Given the description of an element on the screen output the (x, y) to click on. 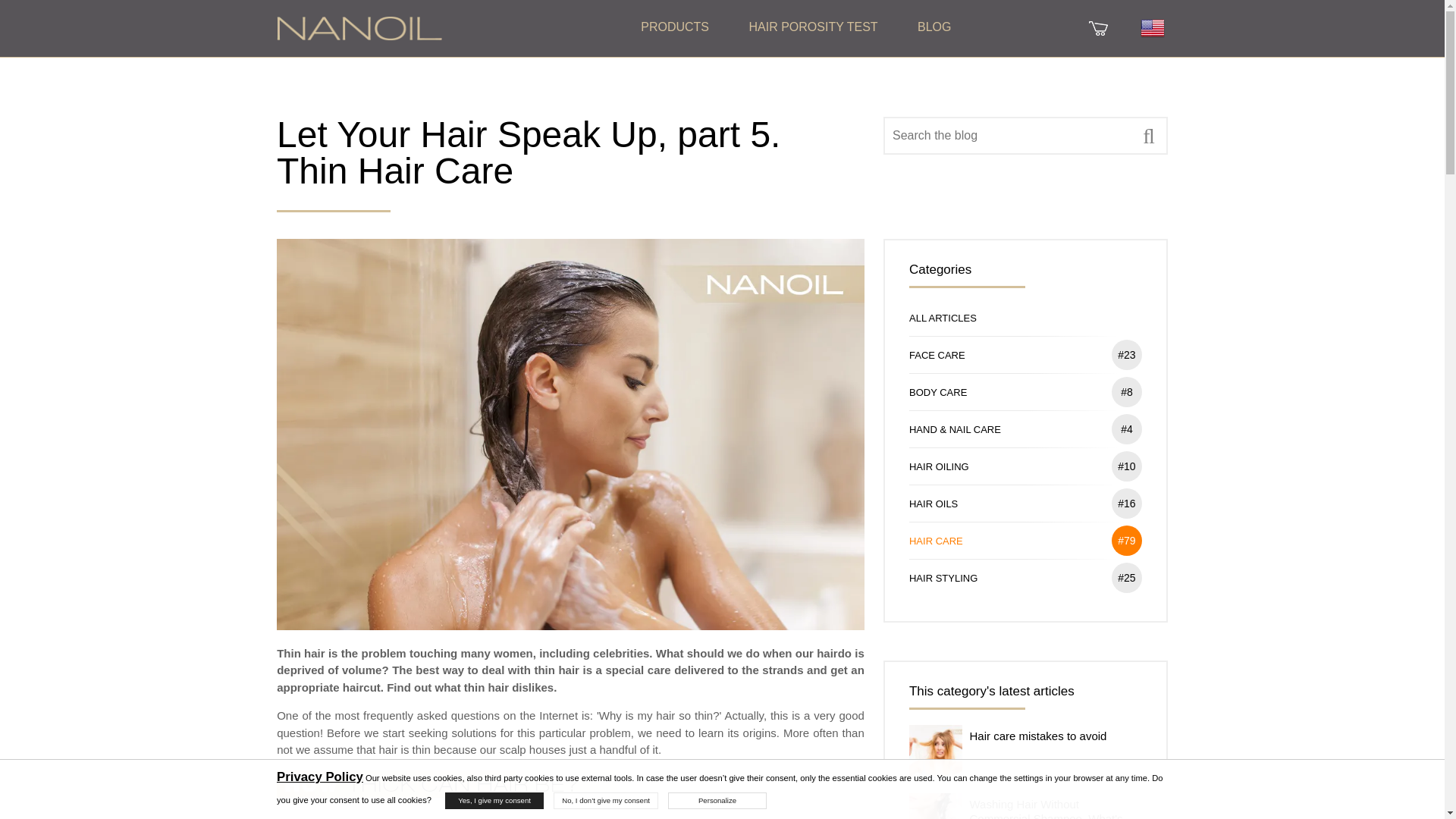
PRODUCTS (674, 27)
Nanoil United States (359, 27)
BLOG (933, 27)
HAIR POROSITY TEST (812, 27)
